Given the description of an element on the screen output the (x, y) to click on. 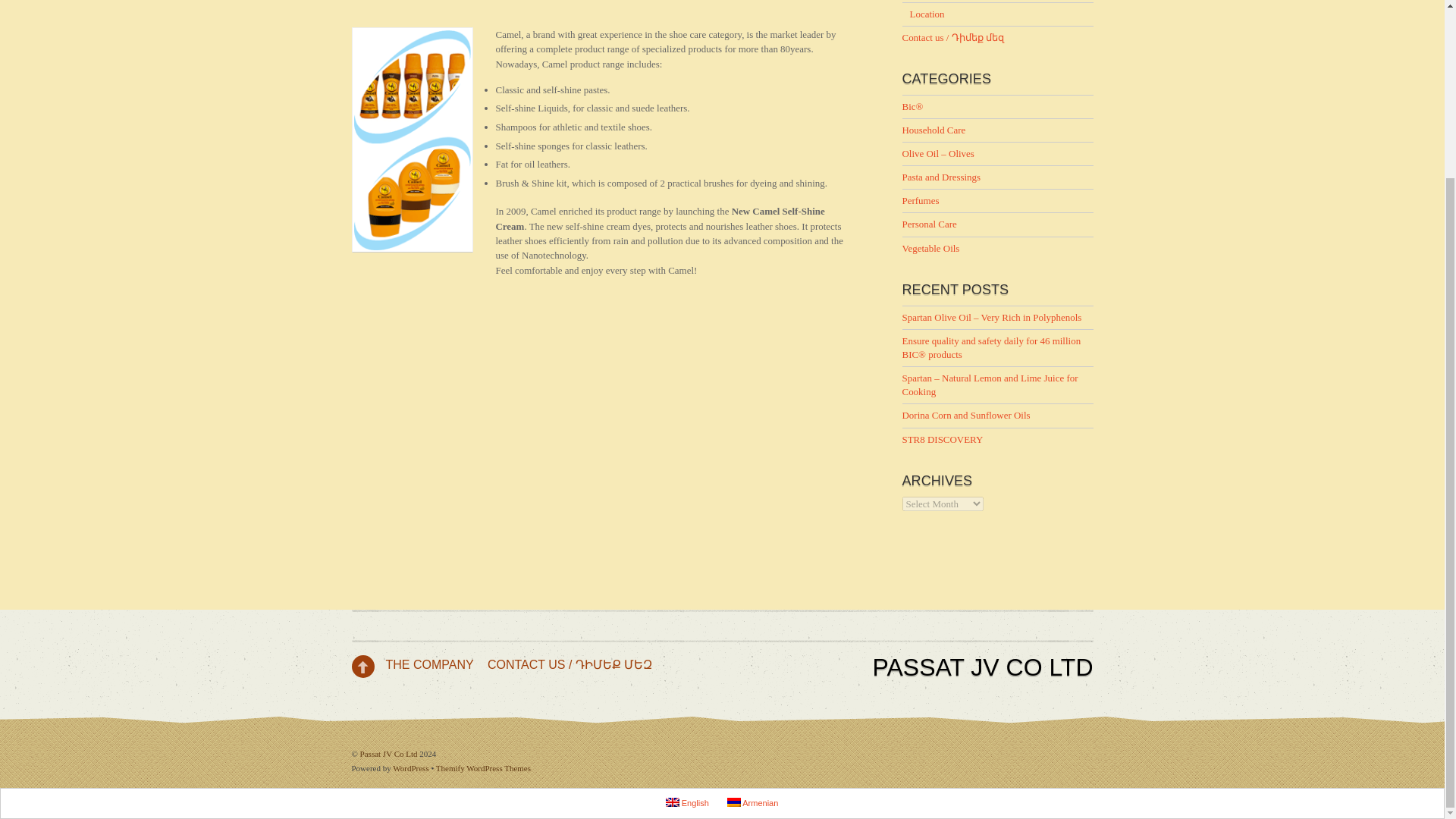
Passat JV Co Ltd (982, 666)
Perfumes (920, 200)
Personal Care (929, 224)
Vegetable Oils (930, 247)
Dorina Corn and Sunflower Oils (966, 414)
Pasta and Dressings (941, 176)
Household Care (934, 129)
Location (927, 13)
STR8 DISCOVERY (943, 439)
THE COMPANY (429, 664)
